Given the description of an element on the screen output the (x, y) to click on. 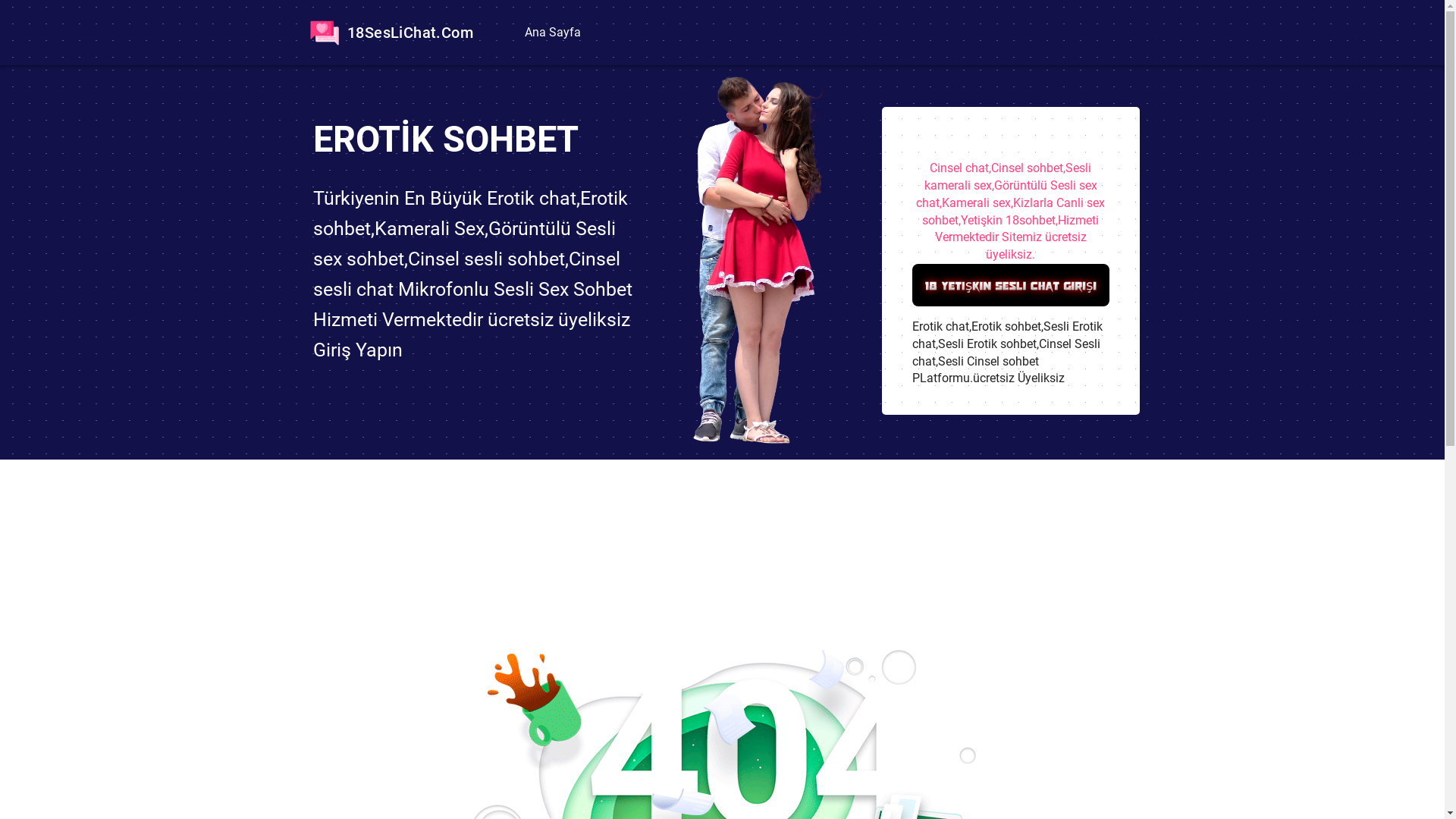
Ana Sayfa
(current) Element type: text (551, 32)
 18SesLiChat.Com Element type: text (388, 32)
